Given the description of an element on the screen output the (x, y) to click on. 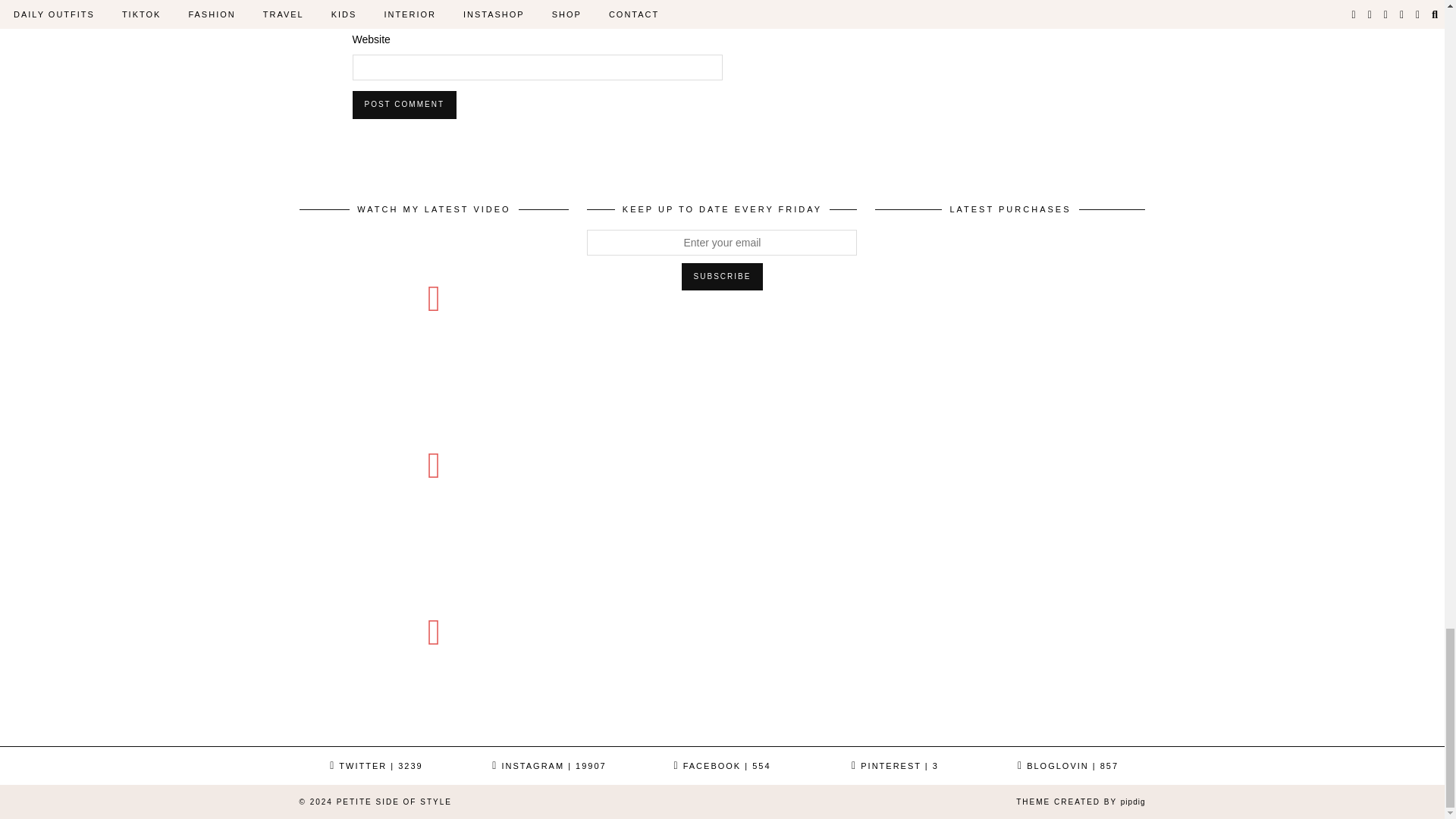
Subscribe (721, 276)
Post Comment (403, 103)
